Given the description of an element on the screen output the (x, y) to click on. 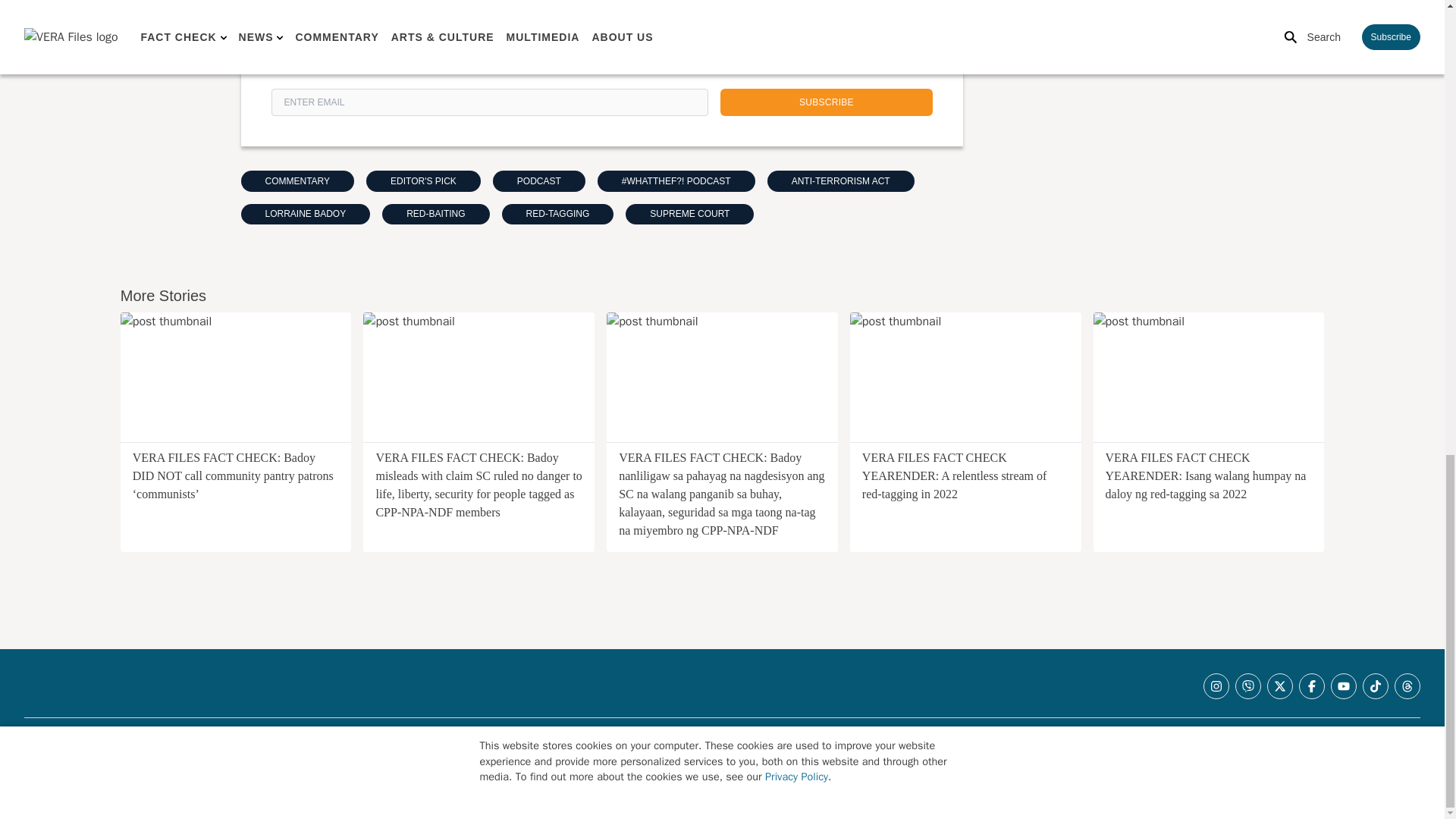
SUBSCRIBE (826, 102)
